Given the description of an element on the screen output the (x, y) to click on. 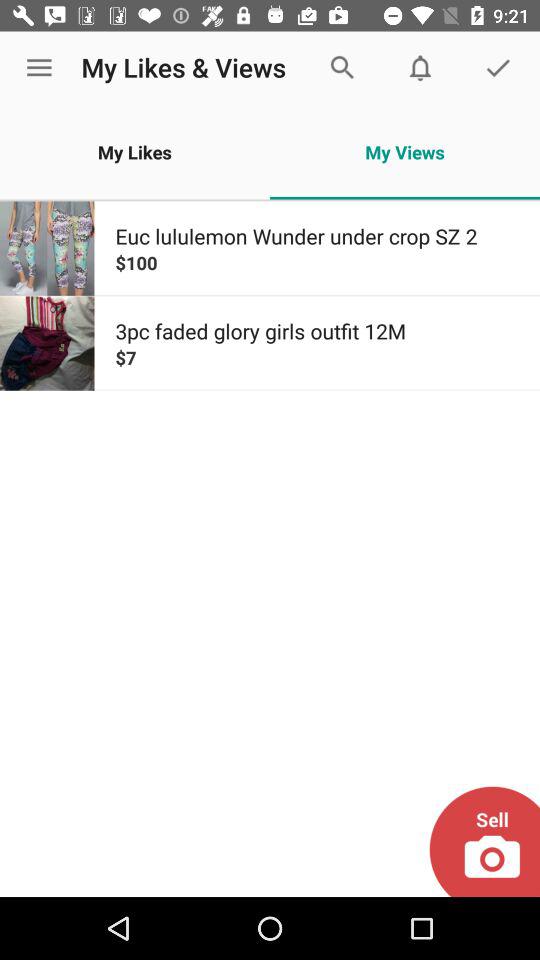
choose the icon to the left of the my likes & views icon (39, 67)
